Given the description of an element on the screen output the (x, y) to click on. 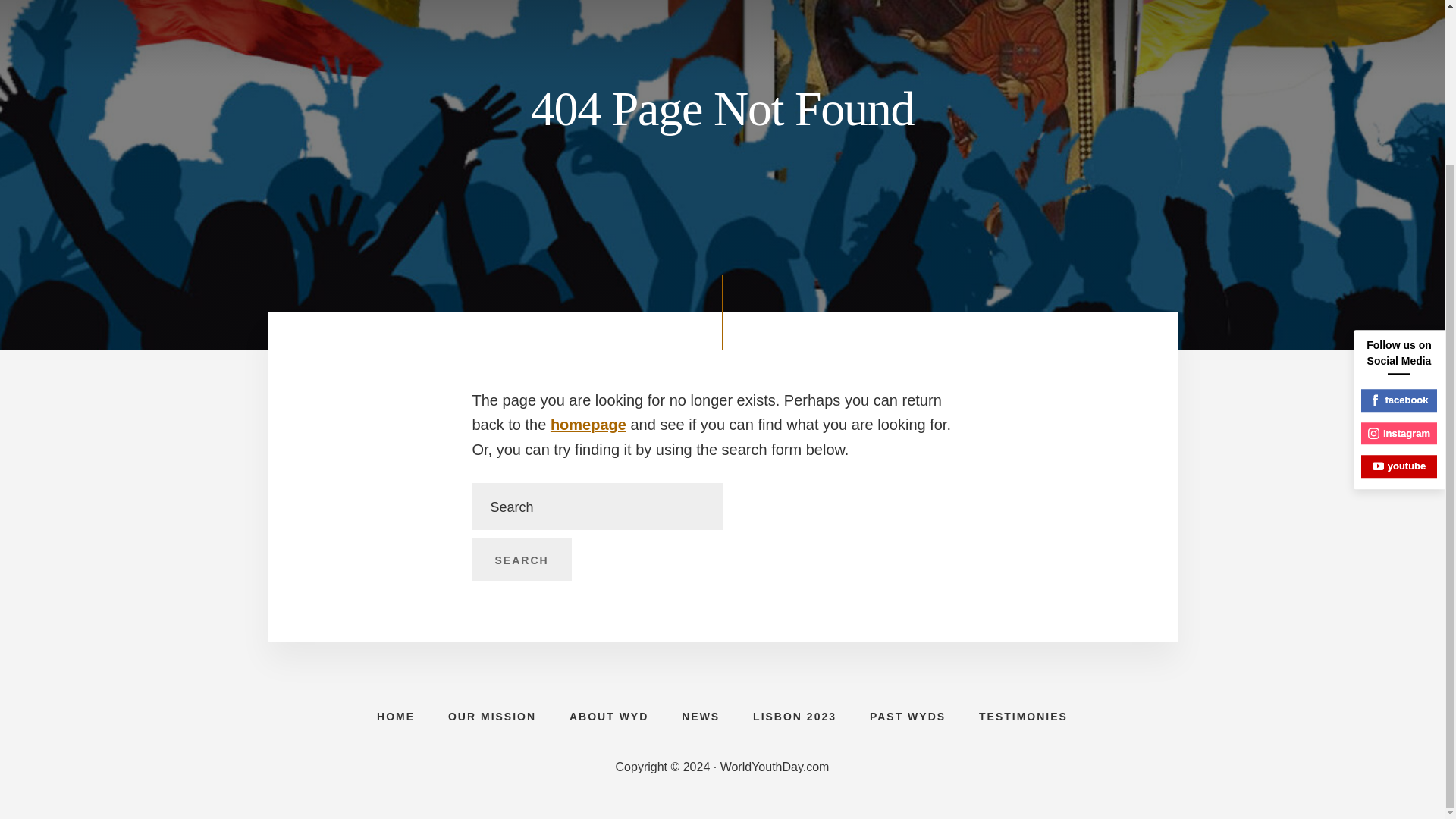
facebook (1399, 204)
OUR MISSION (491, 716)
Search (520, 559)
ABOUT WYD (608, 716)
instagram (1399, 237)
Search (520, 559)
TESTIMONIES (1023, 716)
PAST WYDS (907, 716)
homepage (588, 424)
youtube (1399, 270)
LISBON 2023 (794, 716)
HOME (395, 716)
Search (520, 559)
NEWS (700, 716)
